Given the description of an element on the screen output the (x, y) to click on. 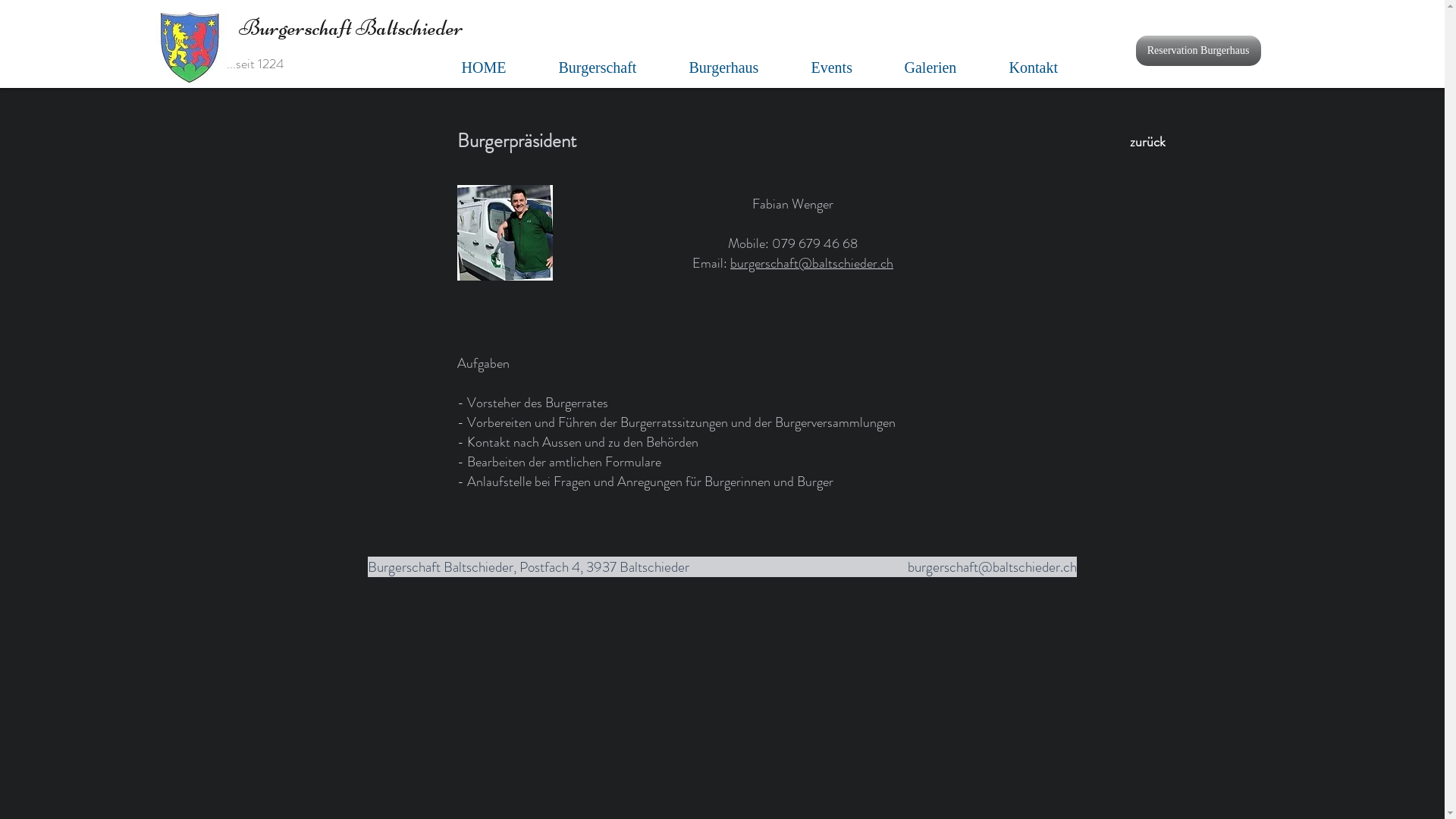
Events Element type: text (850, 67)
burgerschaft@baltschieder.ch Element type: text (991, 566)
Reservation Burgerhaus Element type: text (1198, 50)
burgerschaft@baltschieder.ch Element type: text (811, 263)
Burgerhaus Element type: text (741, 67)
Burgerschaft Element type: text (615, 67)
HOME Element type: text (501, 67)
Kontakt Element type: text (1051, 67)
Galerien Element type: text (948, 67)
